Given the description of an element on the screen output the (x, y) to click on. 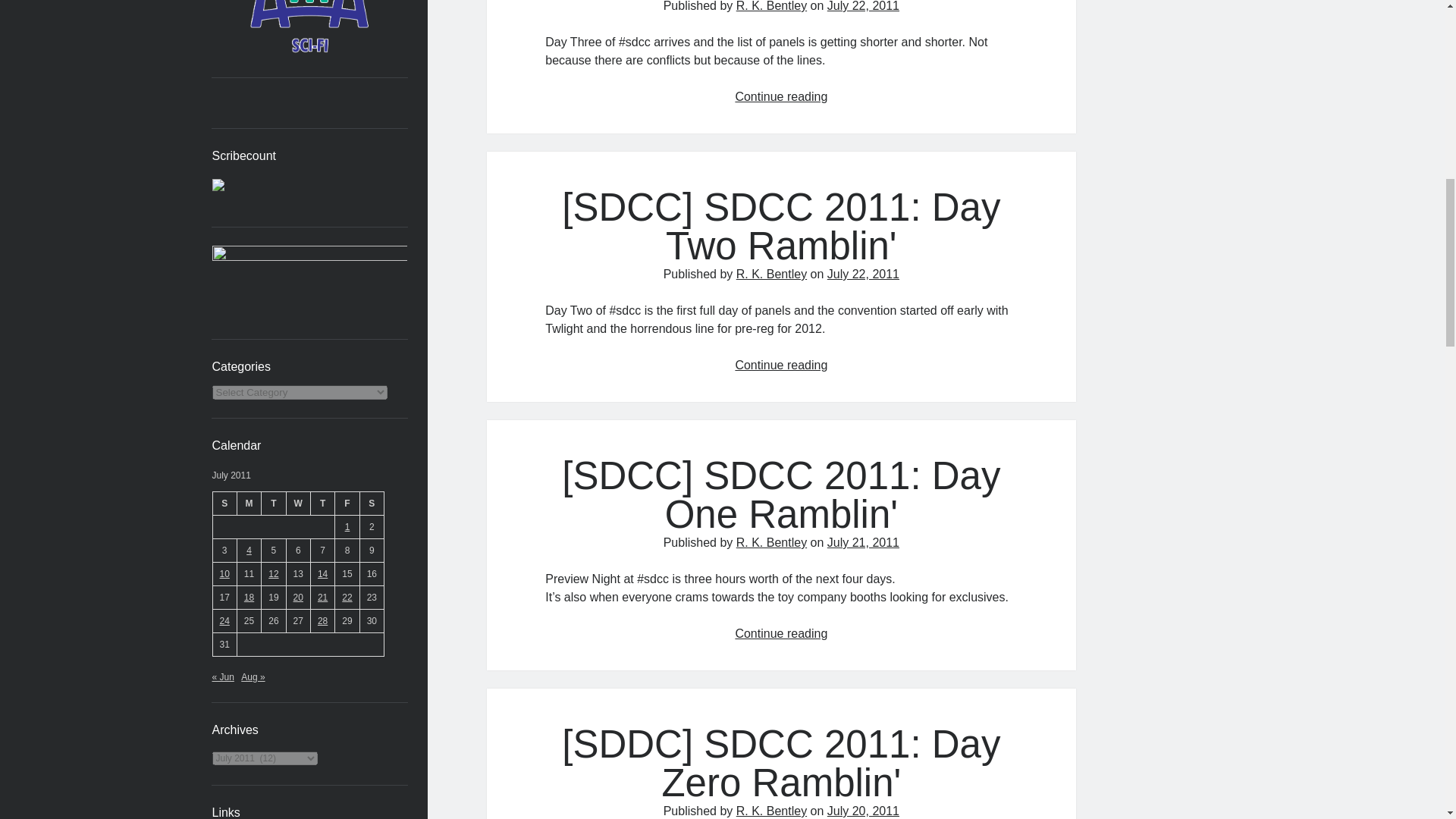
12 (272, 573)
Wednesday (297, 503)
Saturday (371, 503)
18 (248, 597)
Tuesday (273, 503)
22 (347, 597)
28 (322, 620)
20 (298, 597)
10 (224, 573)
Sunday (223, 503)
